Given the description of an element on the screen output the (x, y) to click on. 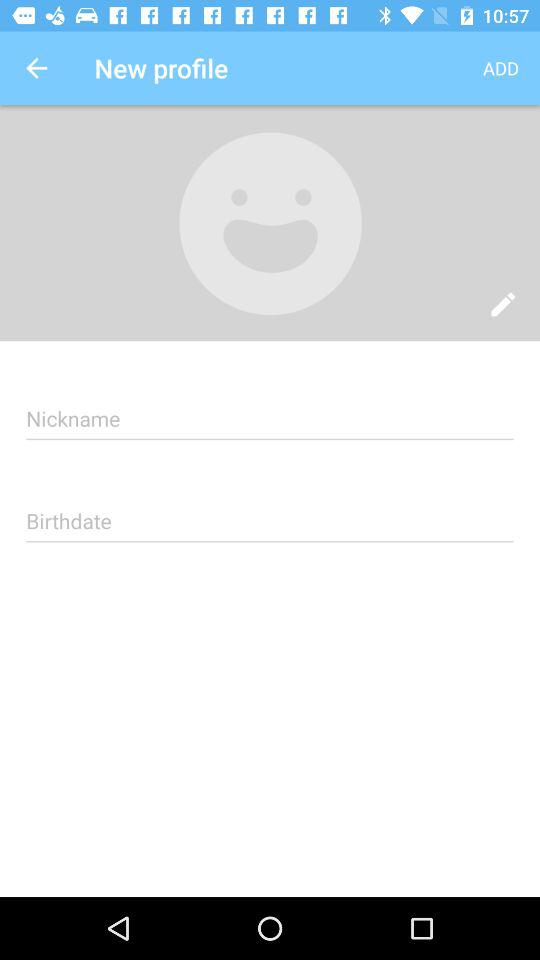
open the app to the right of new profile (500, 67)
